Given the description of an element on the screen output the (x, y) to click on. 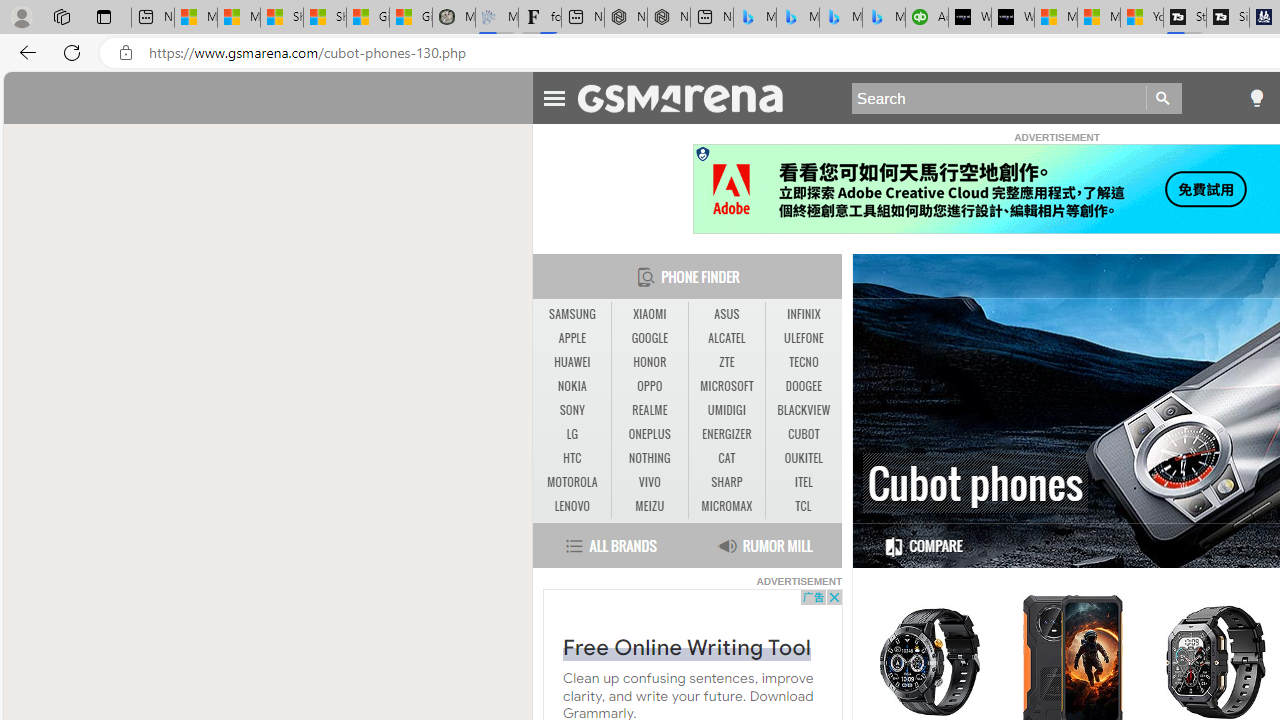
BLACKVIEW (803, 411)
TECNO (803, 362)
Free Online Writing Tool (686, 646)
SAMSUNG (571, 314)
ZTE (726, 362)
TCL (802, 506)
MOTOROLA (571, 483)
XIAOMI (649, 313)
VIVO (649, 482)
XIAOMI (649, 314)
